Given the description of an element on the screen output the (x, y) to click on. 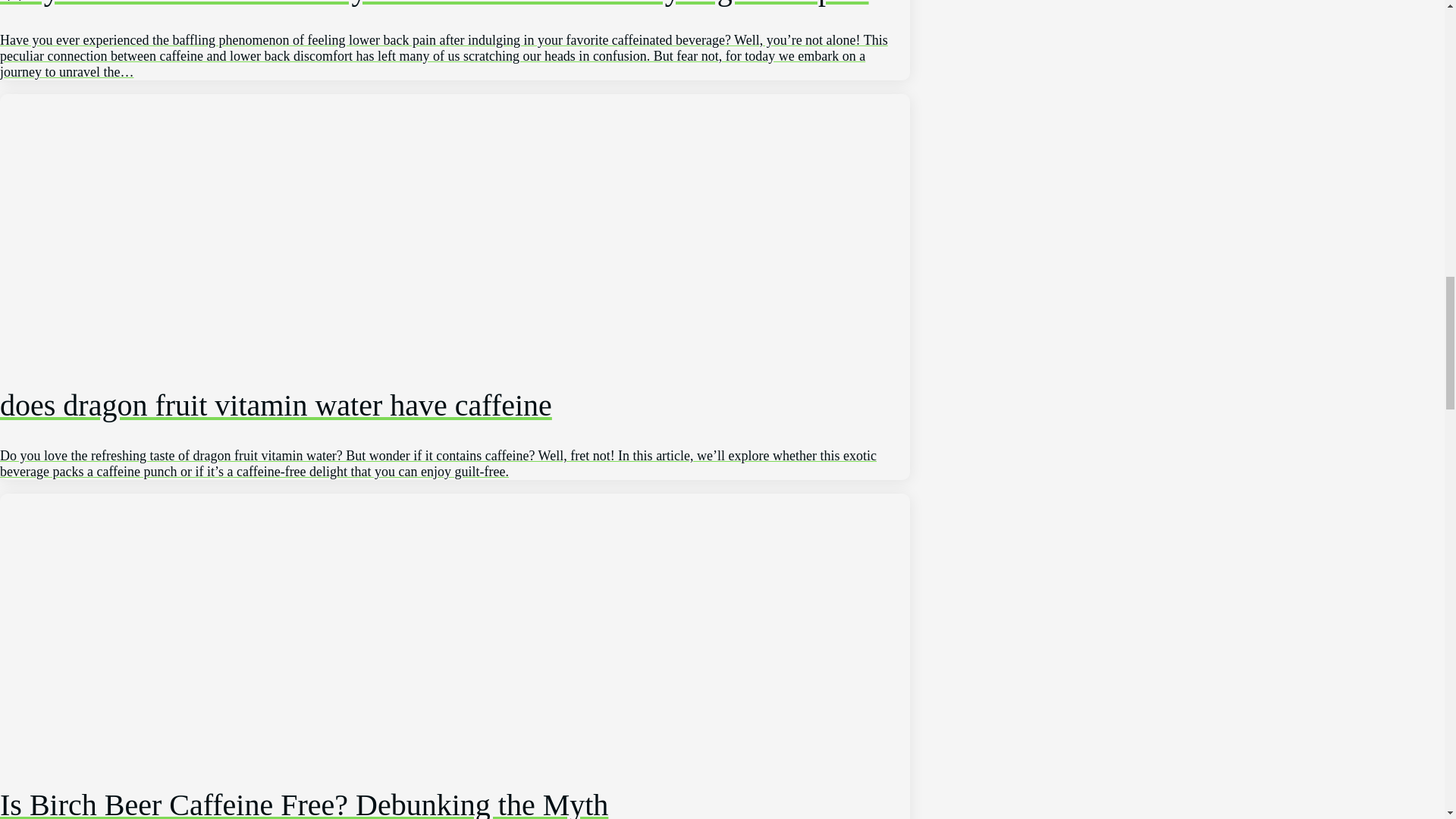
Is Birch Beer Caffeine Free? Debunking the Myth (455, 783)
does dragon fruit vitamin water have caffeine (455, 413)
